Given the description of an element on the screen output the (x, y) to click on. 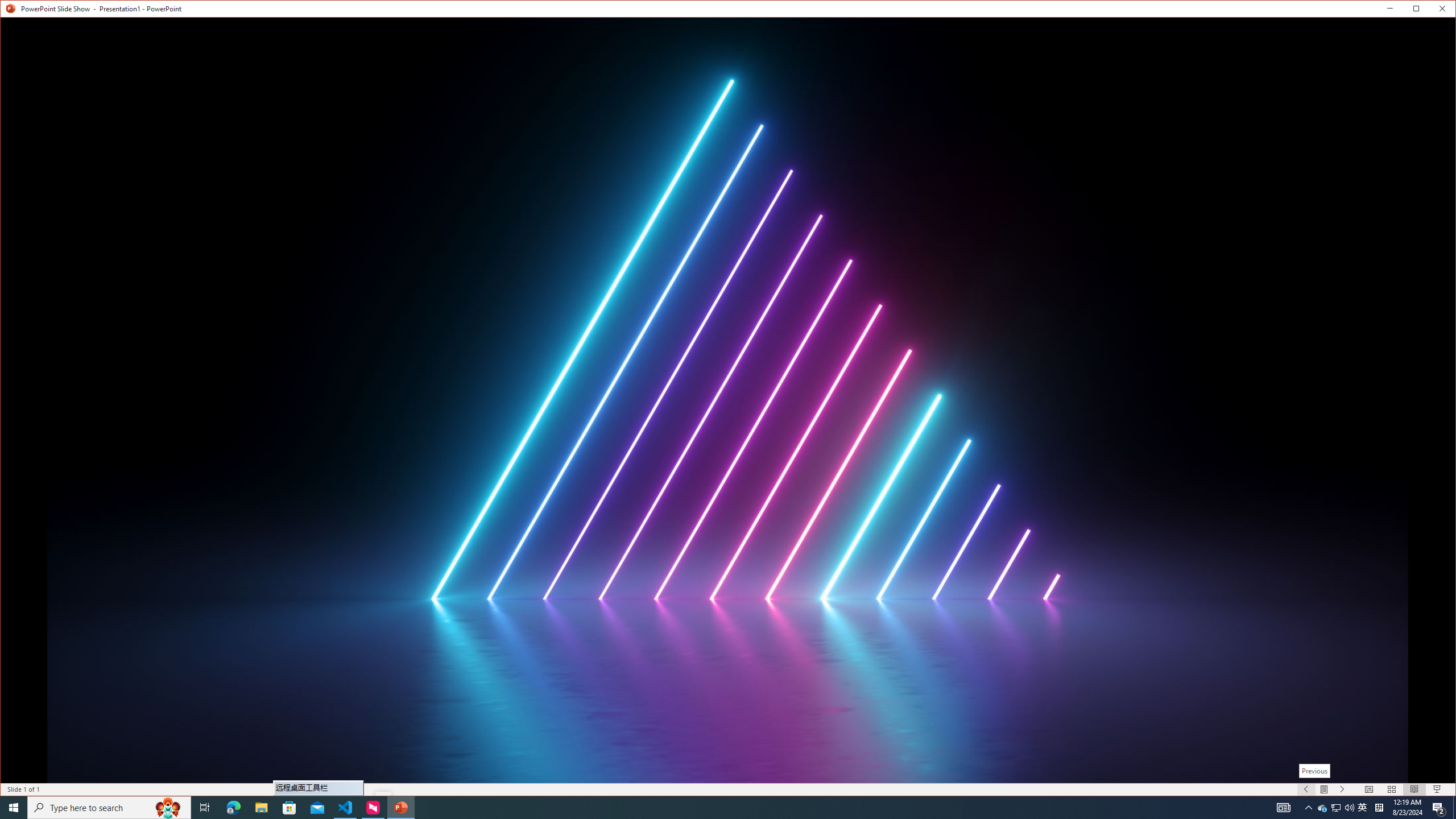
Slide Show Previous On (1306, 789)
Slide Show Next On (1342, 789)
